Given the description of an element on the screen output the (x, y) to click on. 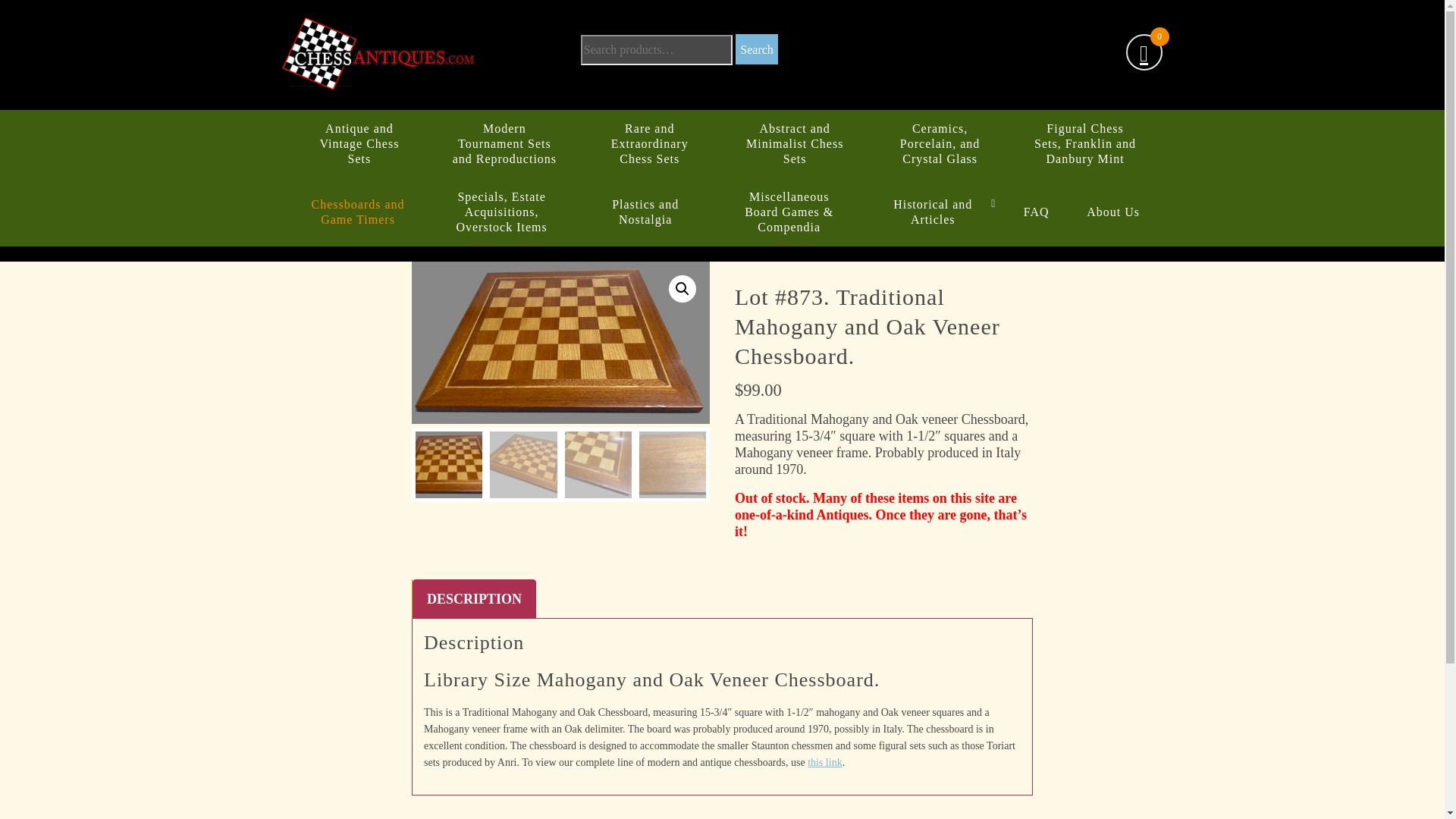
Abstract and Minimalist Chess Sets (794, 144)
Traditional Mahogany and Oak Chessboard (561, 342)
Search (756, 49)
Ceramics, Porcelain, and Crystal Glass (940, 144)
Antique and Vintage Chess Sets (359, 144)
Modern Tournament Sets and Reproductions (504, 144)
Historical and Articles (932, 212)
Rare and Extraordinary Chess Sets (649, 144)
Figural Chess Sets, Franklin and Danbury Mint (1085, 144)
FAQ (1036, 212)
Plastics and Nostalgia (645, 212)
Specials, Estate Acquisitions, Overstock Items (502, 212)
Chessboards and Game Timers (358, 212)
0 (1143, 54)
Traditional Mahogany and Oak Chessboard (858, 372)
